Given the description of an element on the screen output the (x, y) to click on. 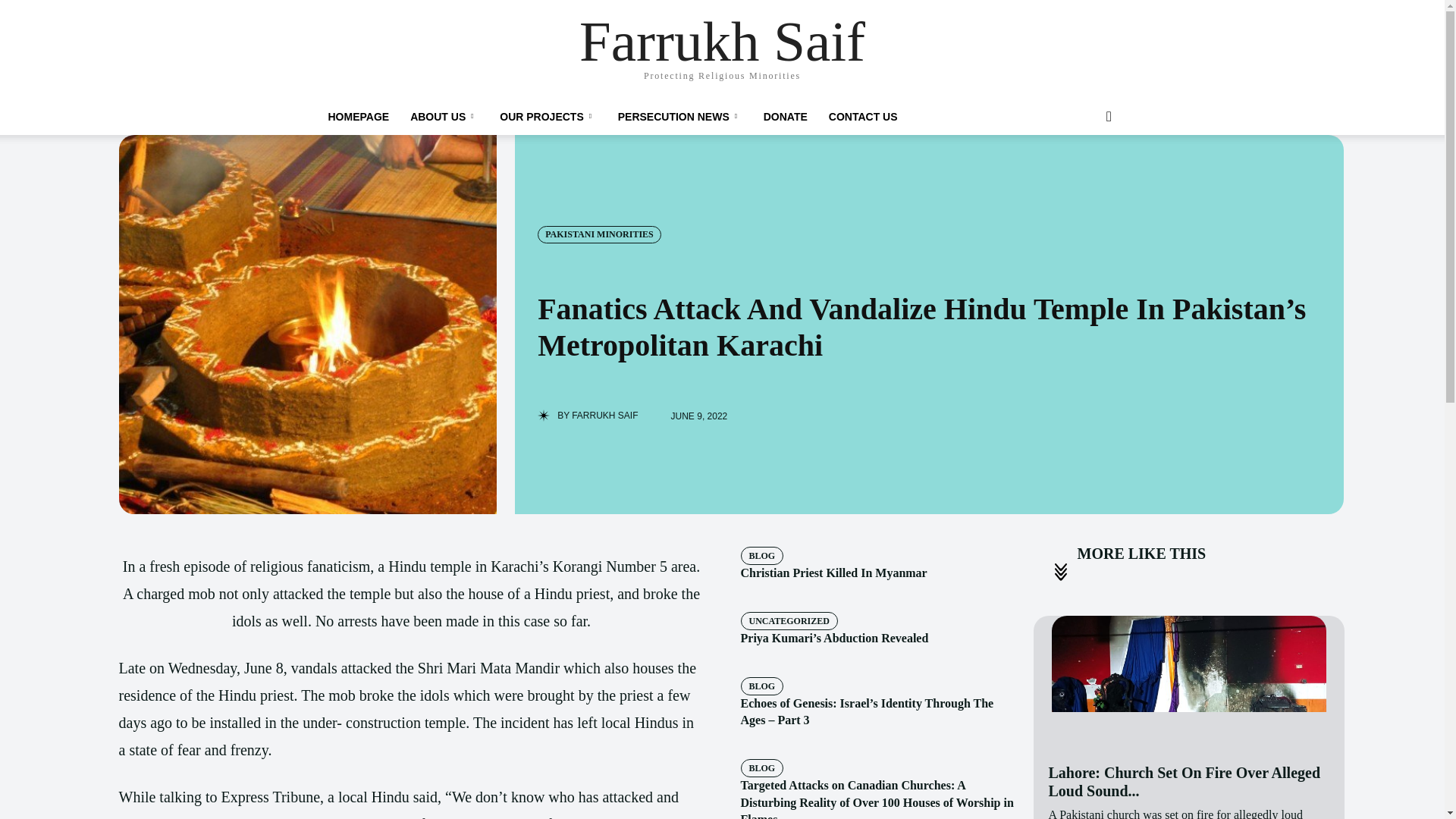
HOMEPAGE (357, 116)
OUR PROJECTS (548, 116)
ABOUT US (443, 116)
BLOG (761, 556)
Christian Priest Killed In Myanmar (832, 572)
PERSECUTION NEWS (679, 116)
Christian Priest Killed In Myanmar (832, 572)
PAKISTANI MINORITIES (599, 234)
CONTACT US (863, 116)
FARRUKH SAIF (604, 415)
DONATE (785, 116)
Farrukh Saif (721, 41)
